Given the description of an element on the screen output the (x, y) to click on. 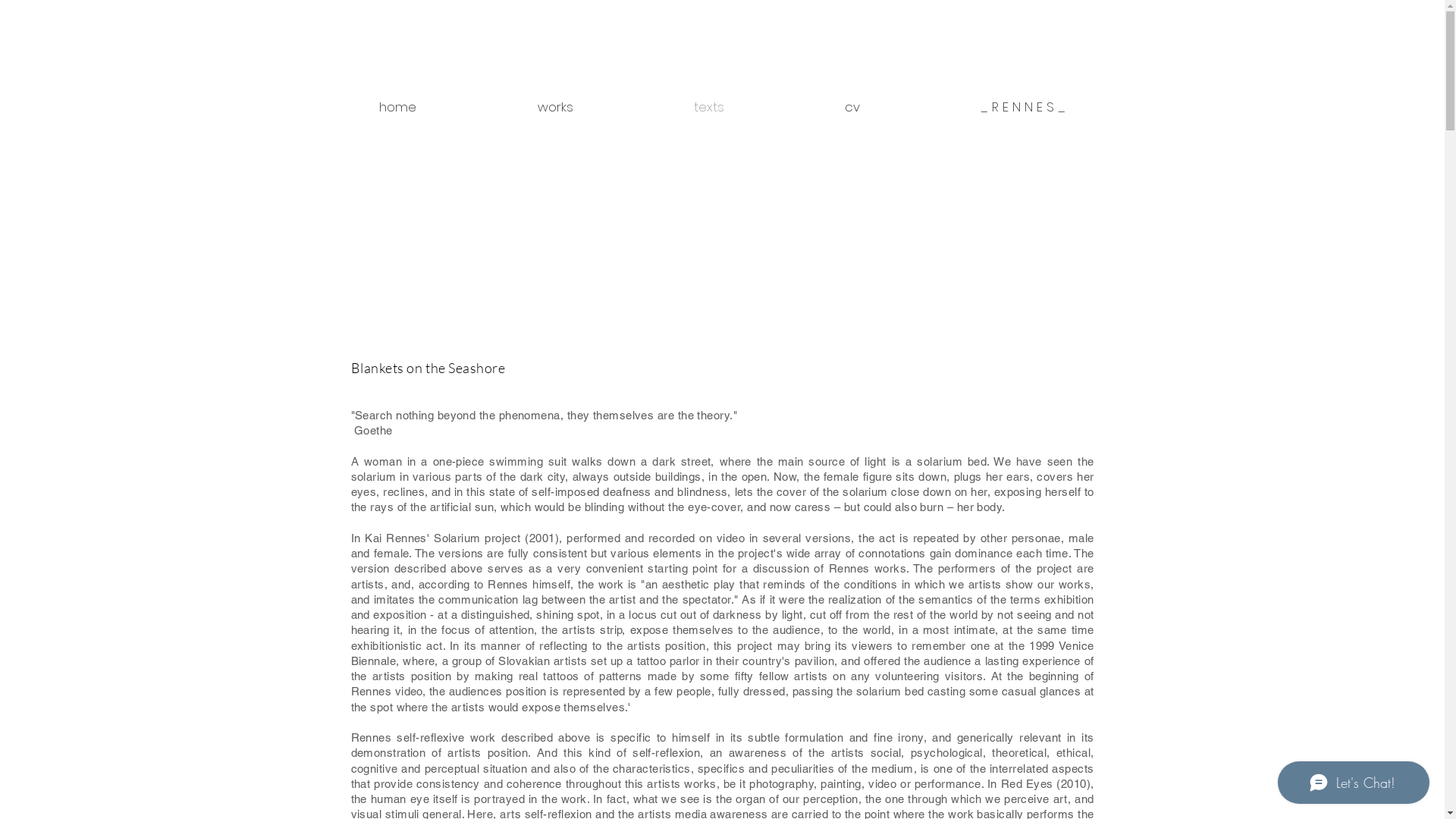
home Element type: text (397, 100)
cv Element type: text (851, 100)
_ R E N N E S _ Element type: text (1023, 100)
works Element type: text (554, 100)
texts Element type: text (708, 100)
